Given the description of an element on the screen output the (x, y) to click on. 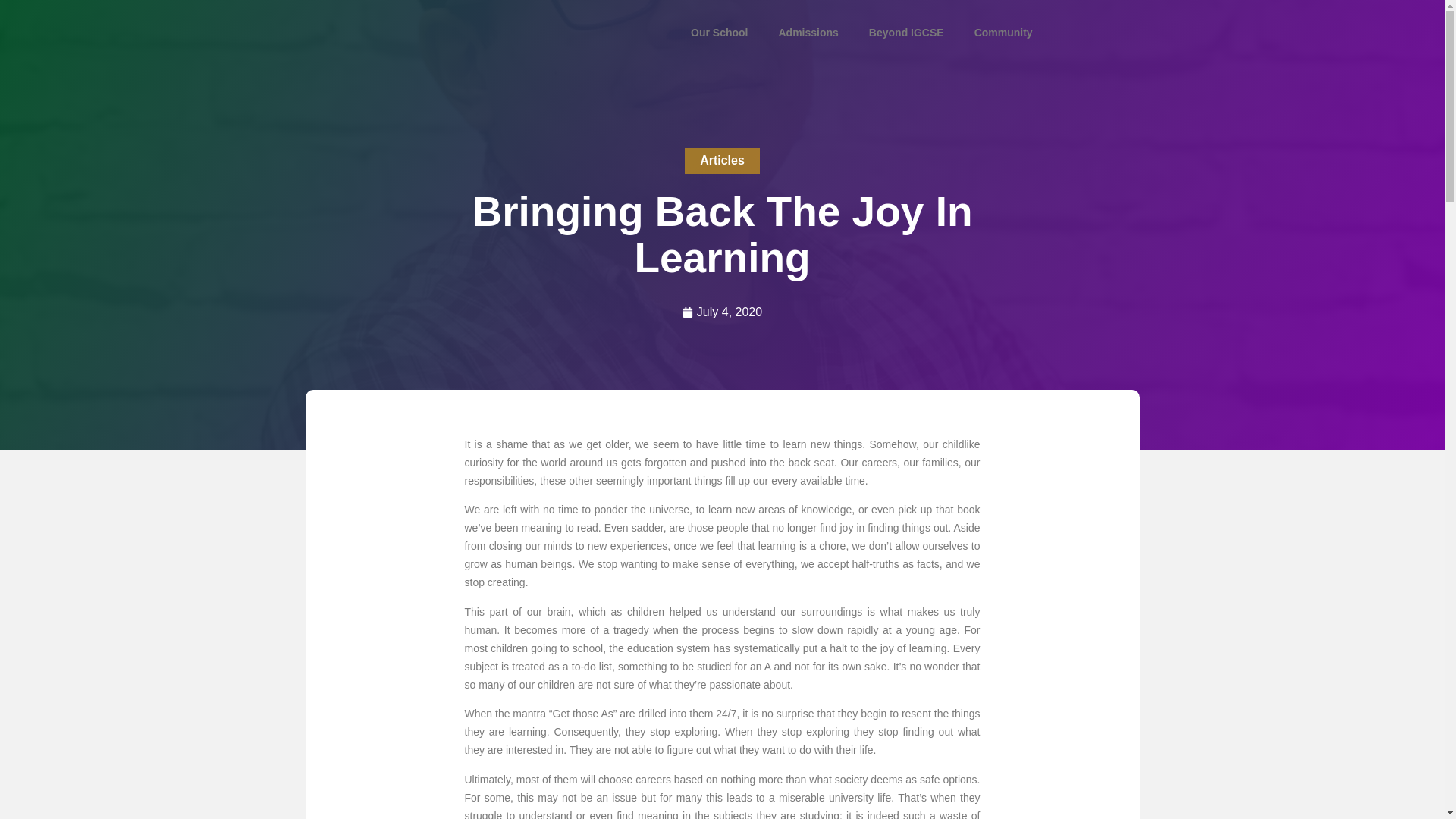
Community (1003, 32)
Admissions (807, 32)
Beyond IGCSE (906, 32)
Our School (718, 32)
